Given the description of an element on the screen output the (x, y) to click on. 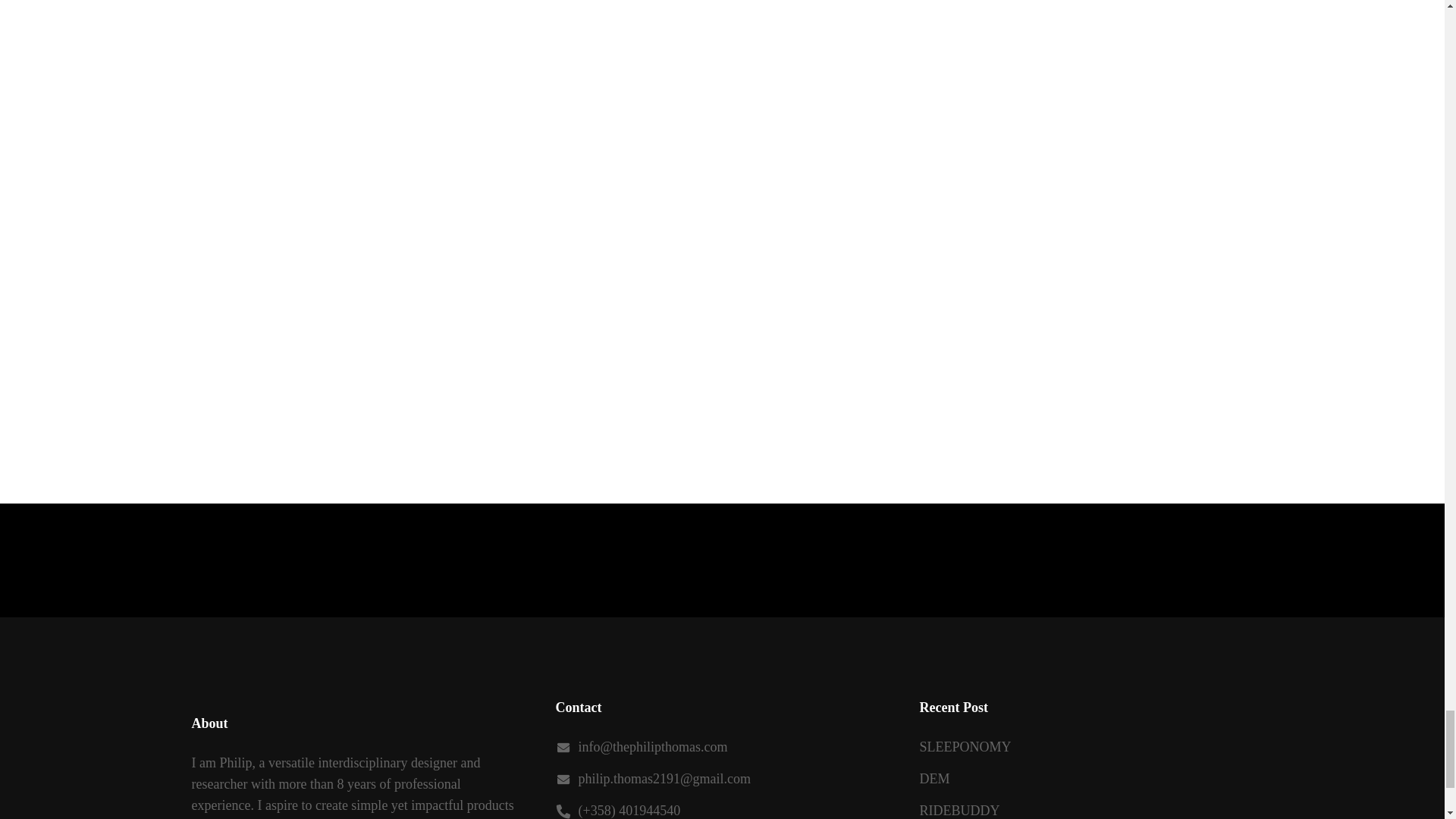
DEM (933, 778)
RIDEBUDDY (958, 810)
SLEEPONOMY (964, 746)
